Given the description of an element on the screen output the (x, y) to click on. 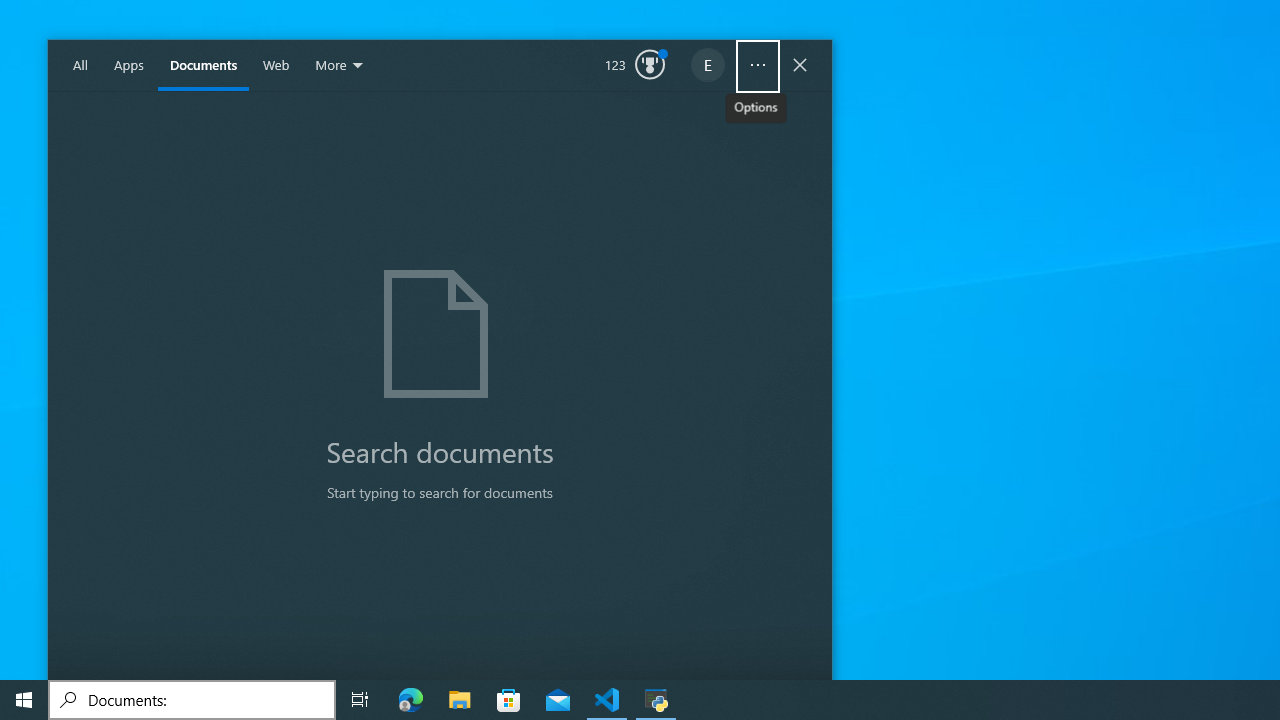
Search box (191, 699)
More (340, 65)
Apps (129, 65)
All (80, 65)
EugeneLedger601@outlook.com (707, 65)
Close Windows Search (799, 65)
Web (276, 65)
Documents (203, 65)
Microsoft Rewards balance: 123 (635, 65)
Options (758, 65)
